Given the description of an element on the screen output the (x, y) to click on. 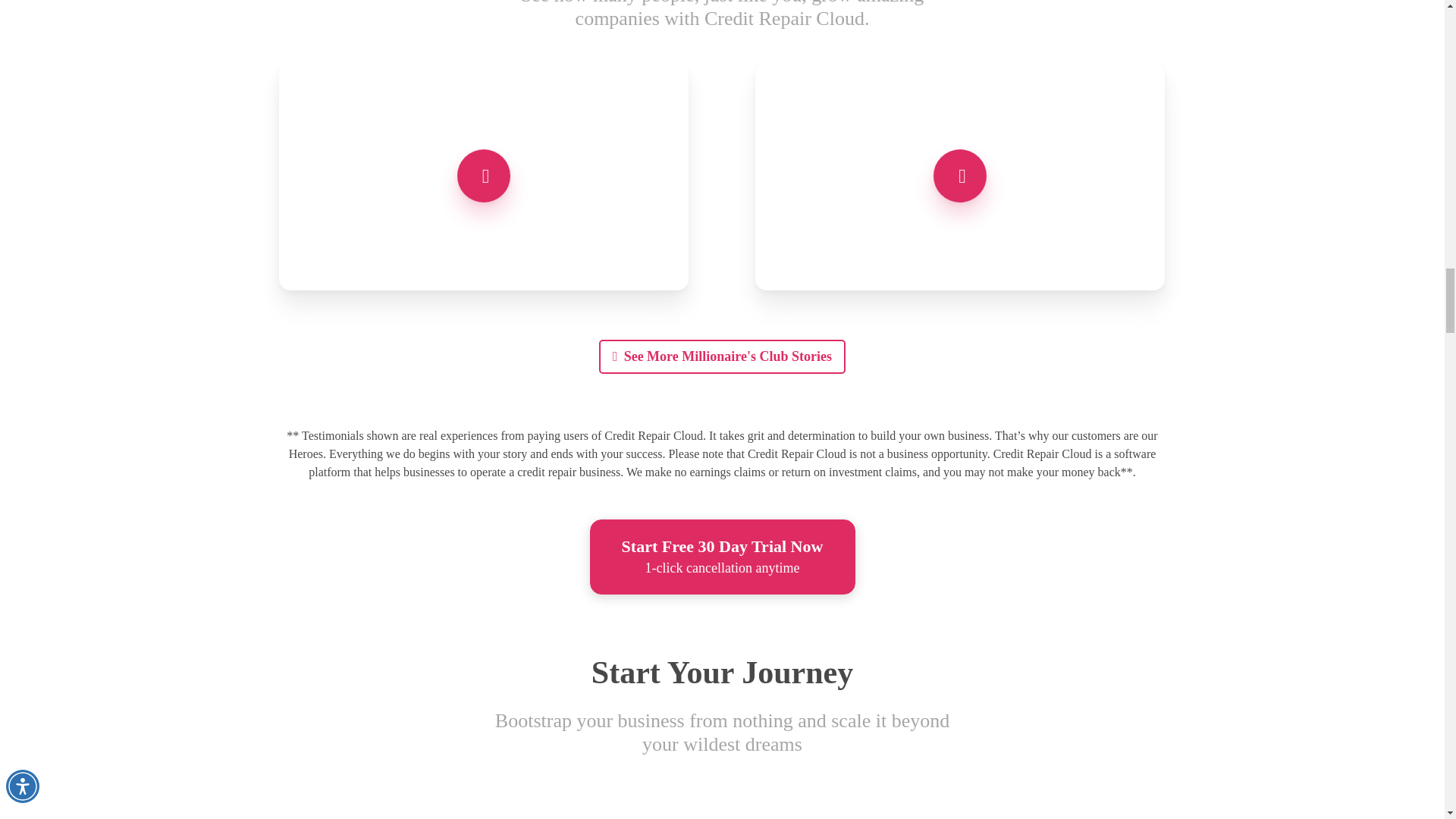
See More Millionaire's Club Stories (721, 356)
Start Free 30 Day Trial Now 1-click cancellation anytime (722, 556)
